Given the description of an element on the screen output the (x, y) to click on. 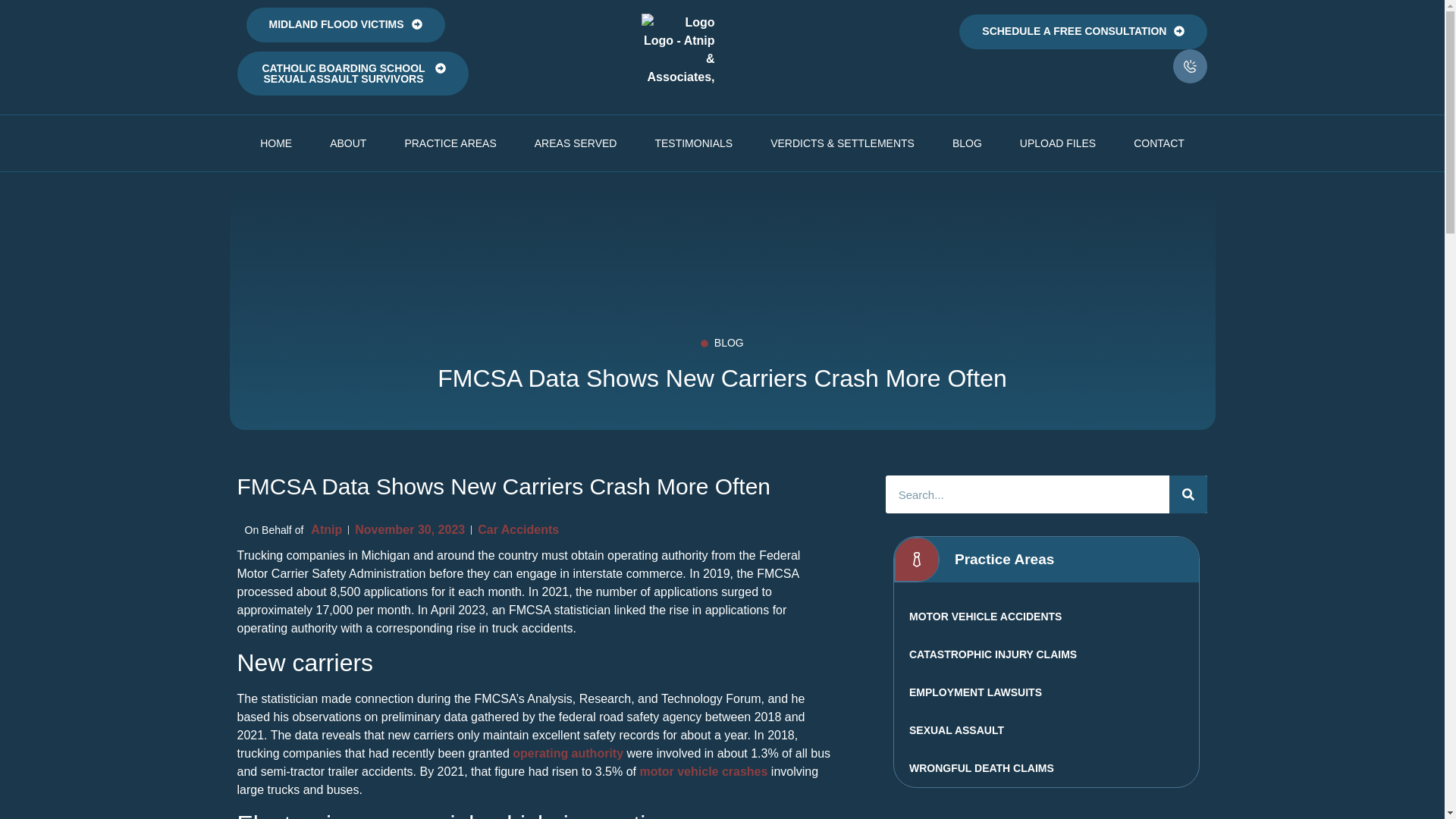
HOME (276, 143)
MIDLAND FLOOD VICTIMS (345, 24)
ABOUT (348, 143)
CATHOLIC BOARDING SCHOOL SEXUAL ASSAULT SURVIVORS (351, 73)
SCHEDULE A FREE CONSULTATION (1083, 31)
PRACTICE AREAS (450, 143)
